Given the description of an element on the screen output the (x, y) to click on. 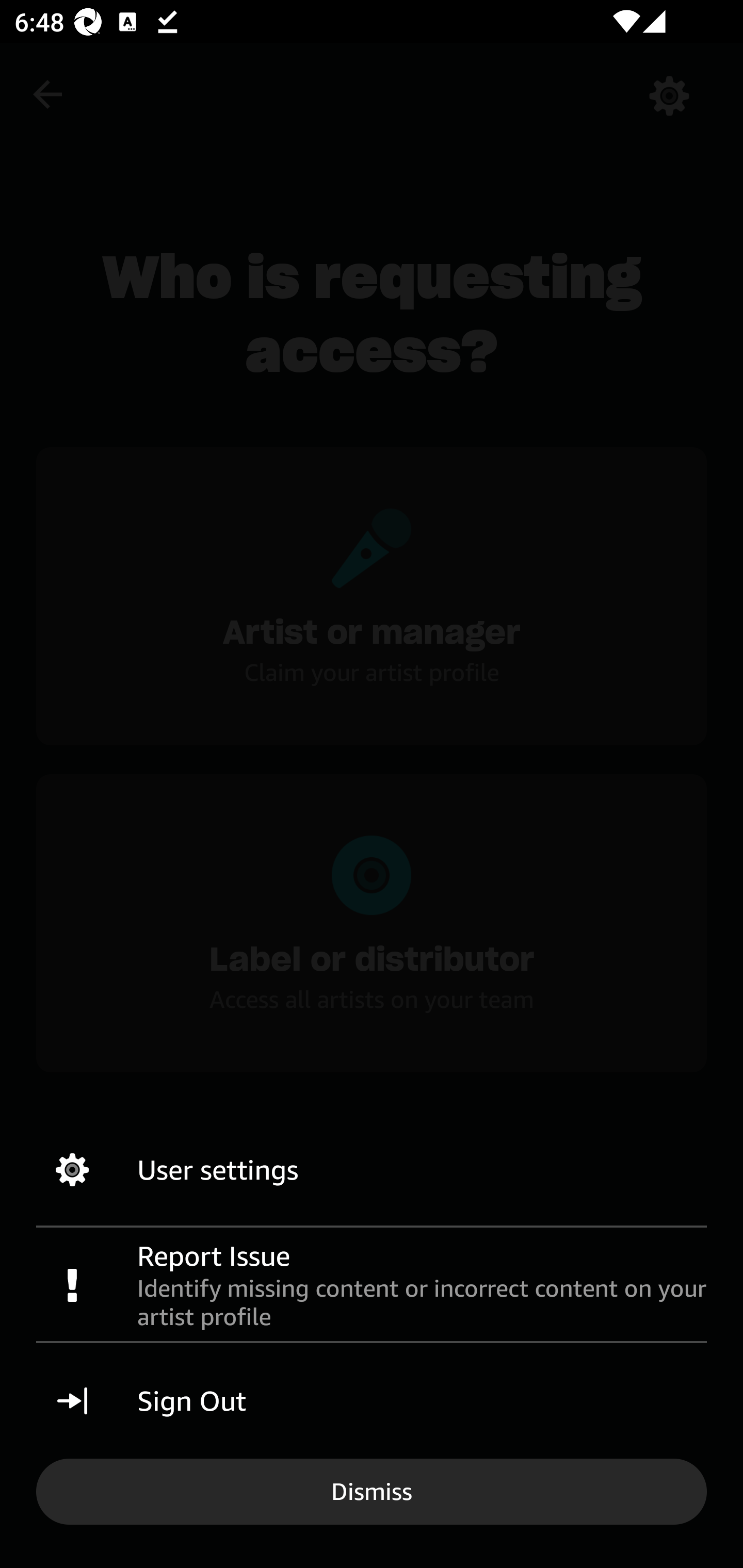
User settings  icon User settings User settings (371, 1169)
Sign Out  icon Sign Out Sign Out (371, 1400)
Dismiss button Dismiss (371, 1491)
